Given the description of an element on the screen output the (x, y) to click on. 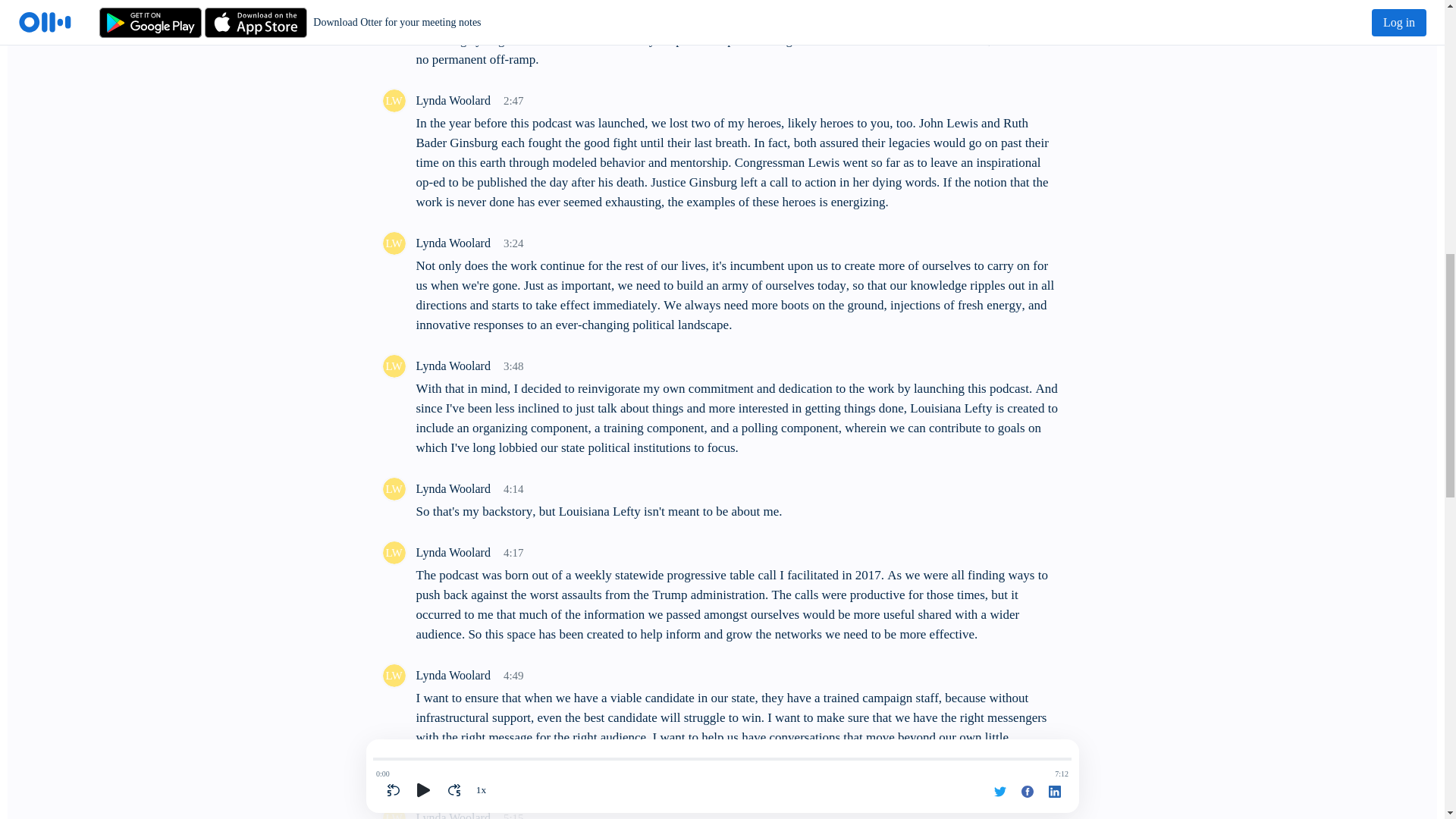
Lynda Woolard (392, 365)
Lynda Woolard (392, 100)
LW (393, 552)
LW (393, 812)
LW (393, 365)
Lynda Woolard (392, 242)
LW (393, 675)
Lynda Woolard (392, 552)
LW (393, 100)
LW (393, 488)
